Given the description of an element on the screen output the (x, y) to click on. 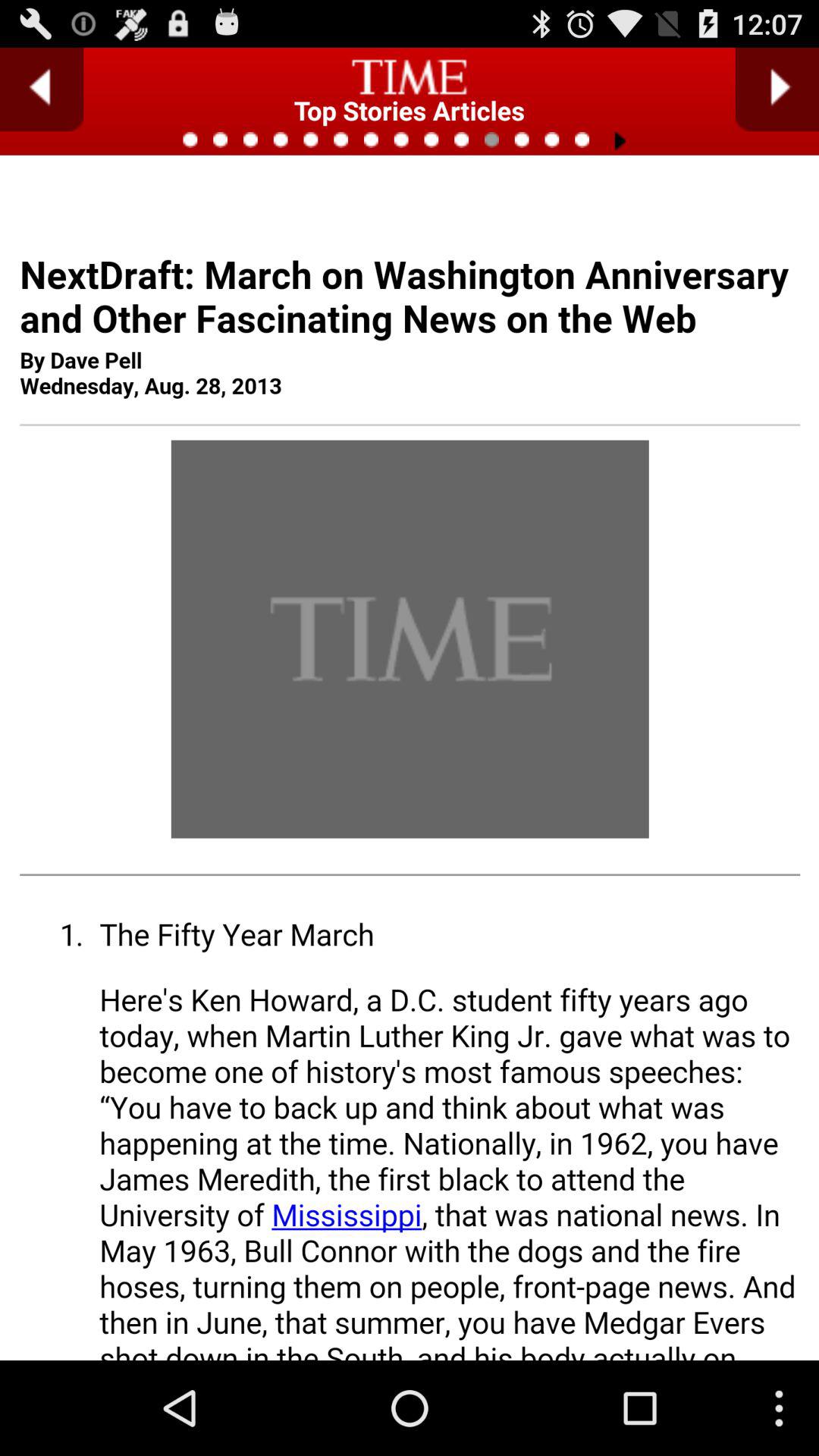
go next (777, 89)
